Given the description of an element on the screen output the (x, y) to click on. 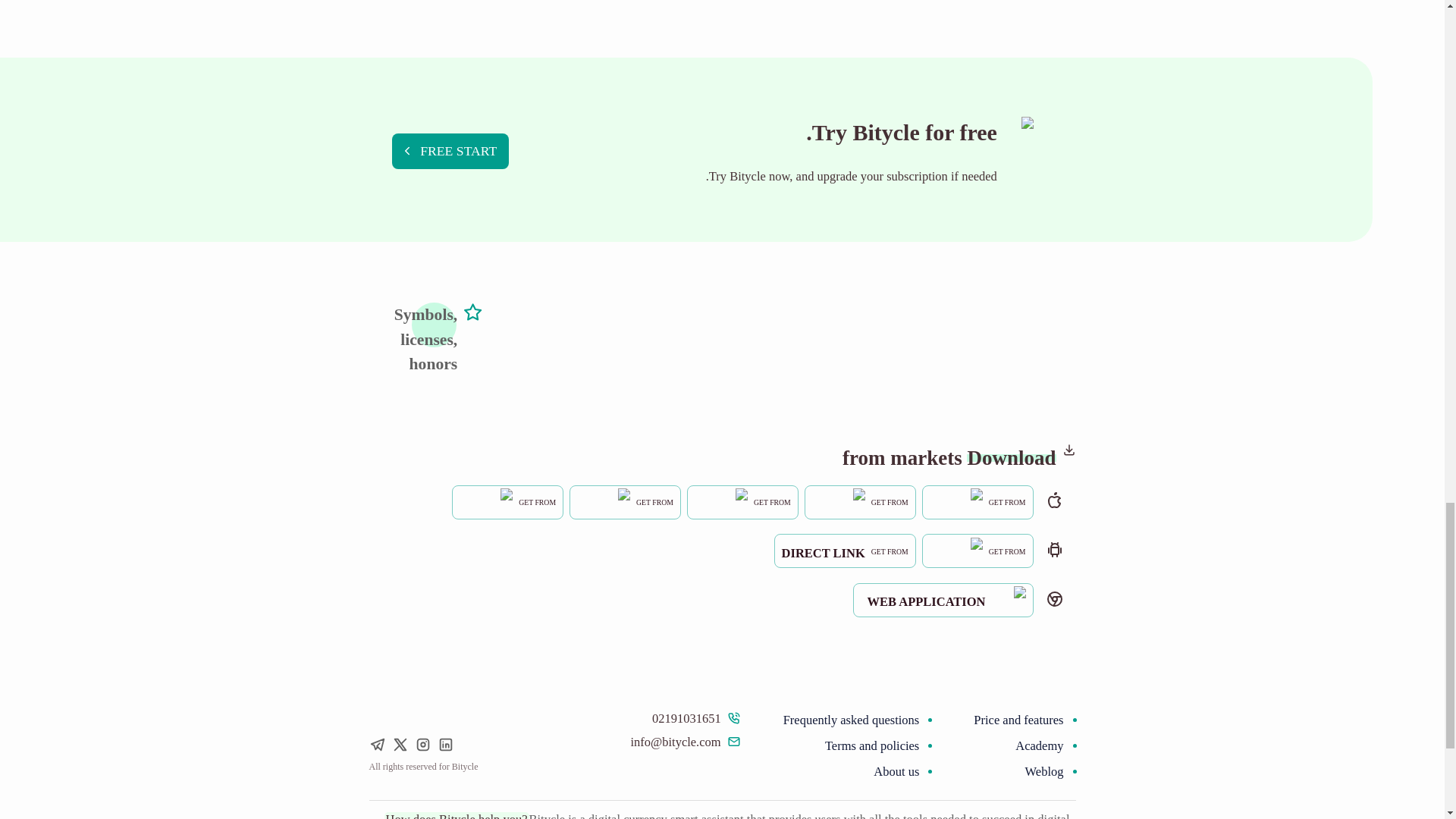
Frequently asked questions (851, 720)
GET FROM (860, 500)
Price and features (1018, 720)
GET FROM (742, 500)
FREE START (844, 550)
GET FROM (449, 150)
GET FROM (860, 502)
GET FROM (625, 500)
GET FROM (507, 500)
